Given the description of an element on the screen output the (x, y) to click on. 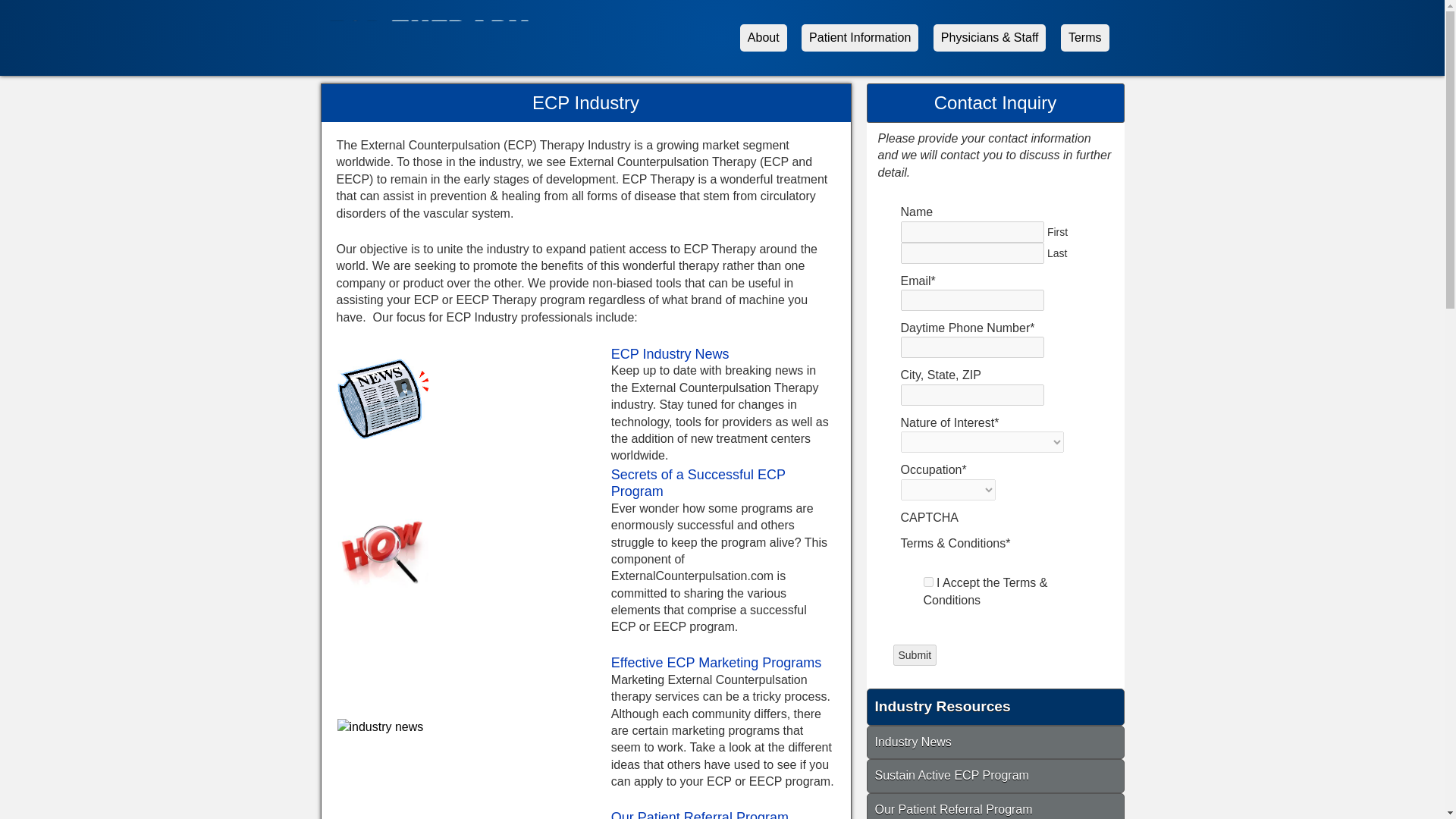
Industry Resources (995, 707)
Submit (915, 654)
Effective ECP Marketing Programs (716, 662)
ECP and EECP Patient Referral Program (700, 814)
Sustain Active ECP Program (952, 775)
Terms (1085, 37)
Submit (915, 654)
Industry News (995, 743)
Our Patient Referral Program (995, 810)
Secrets of a Successful ECP Program (698, 482)
Patient Information (860, 37)
Our Patient Referral Program (700, 814)
About (763, 37)
ECPTherapy.com (440, 47)
Effective ECP and EECP Marketing Programs (716, 662)
